Given the description of an element on the screen output the (x, y) to click on. 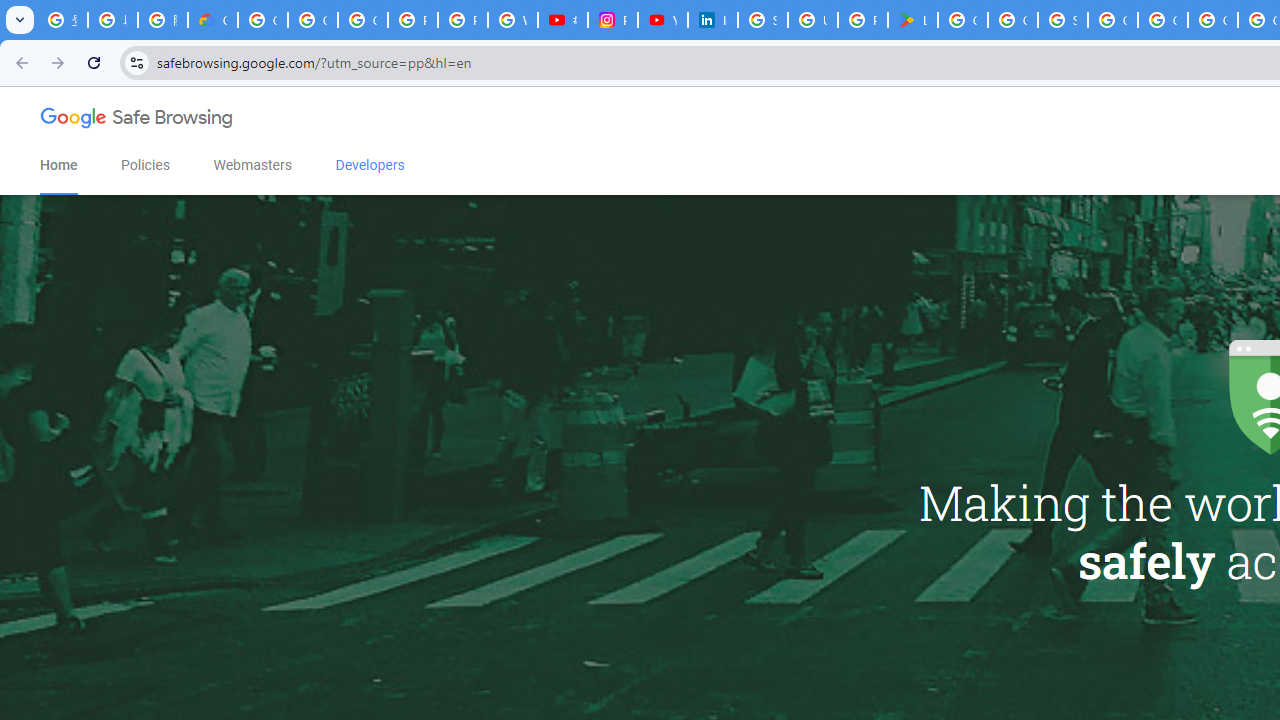
Sign in - Google Accounts (1062, 20)
Last Shelter: Survival - Apps on Google Play (913, 20)
Google Cloud Platform (1162, 20)
Privacy Help Center - Policies Help (462, 20)
Developers (369, 165)
